Given the description of an element on the screen output the (x, y) to click on. 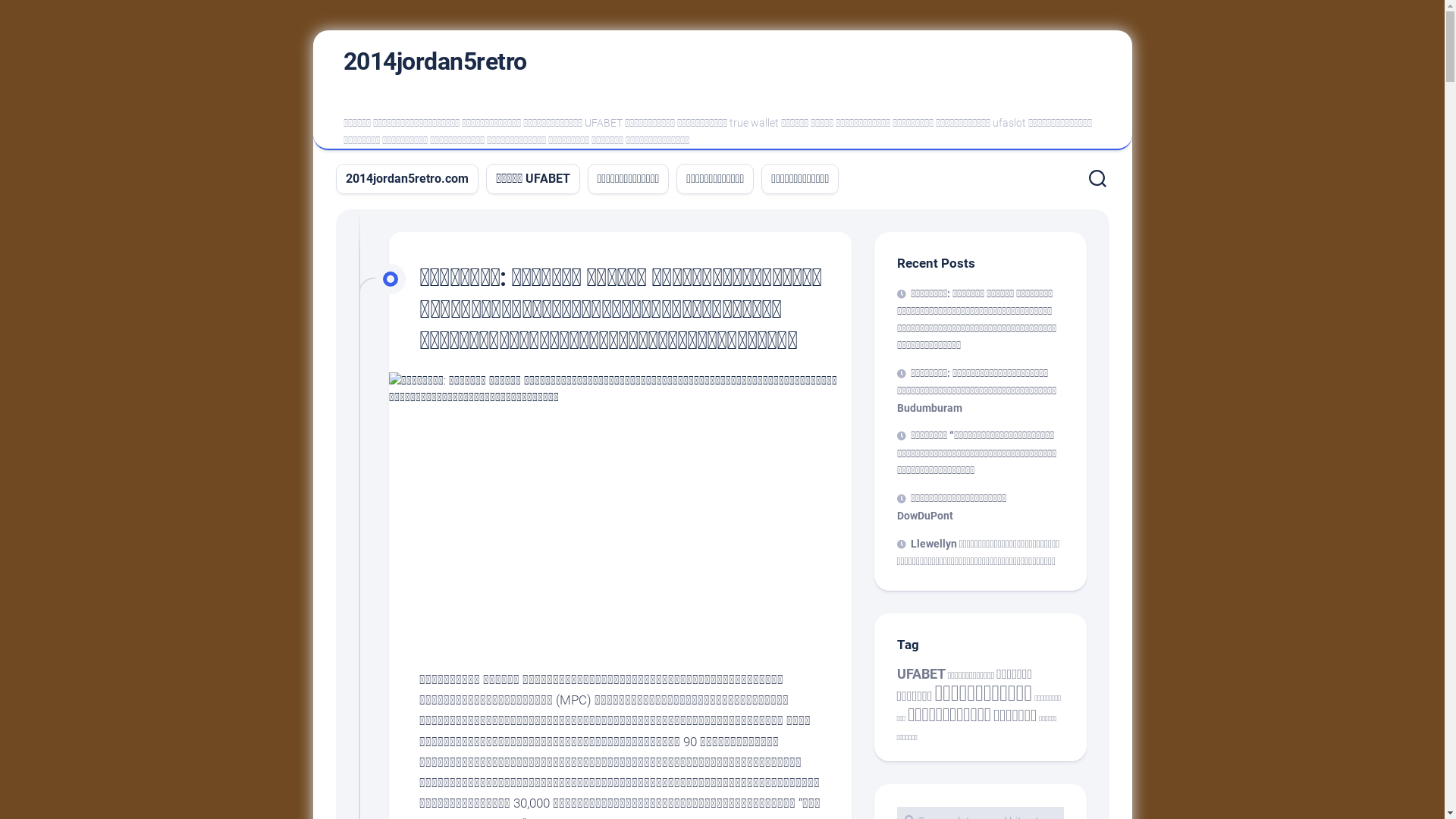
2014jordan5retro.com Element type: text (406, 178)
2014jordan5retro Element type: text (434, 61)
UFABET Element type: text (920, 673)
